Given the description of an element on the screen output the (x, y) to click on. 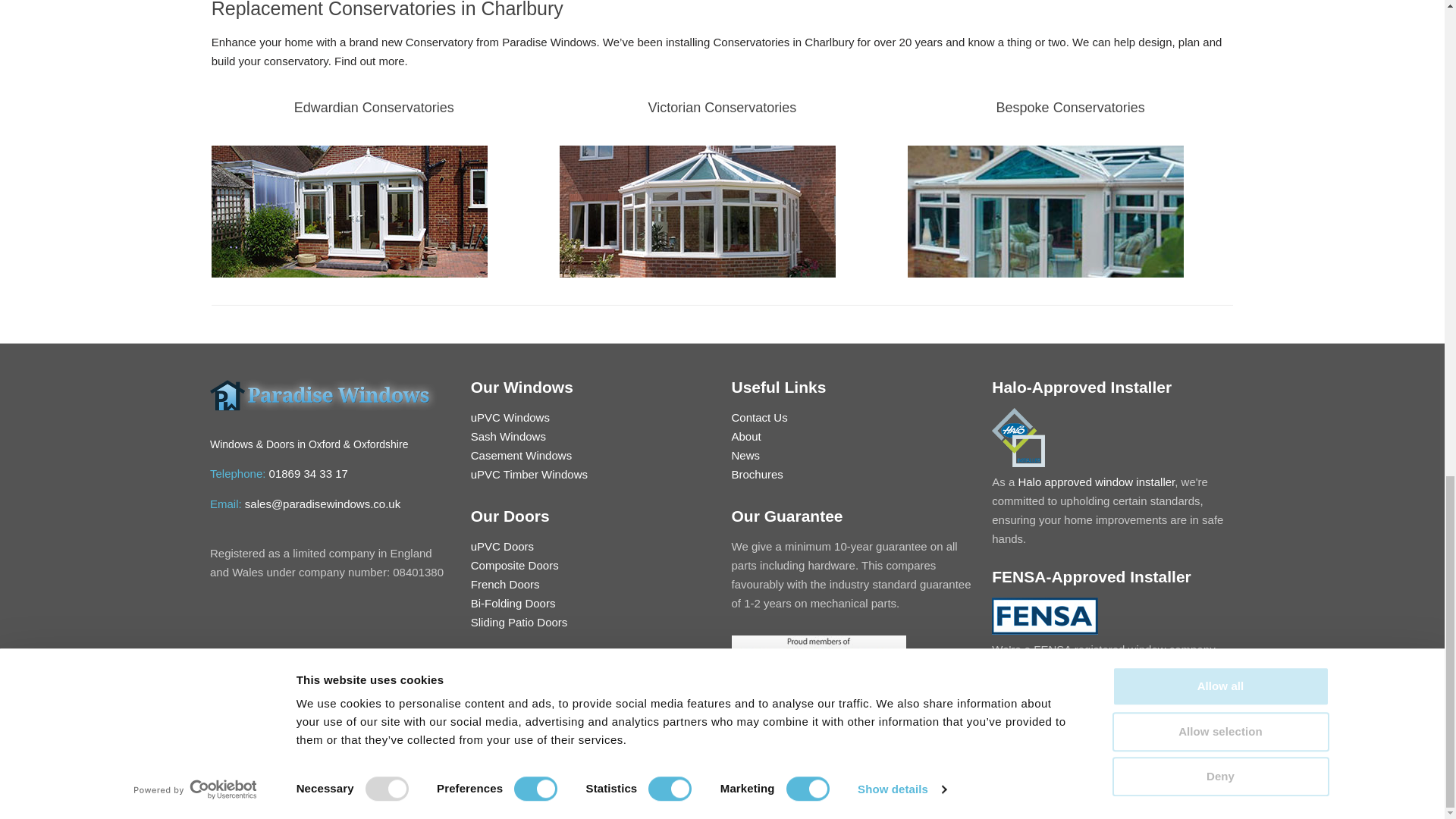
edwardian-1 (349, 211)
